Given the description of an element on the screen output the (x, y) to click on. 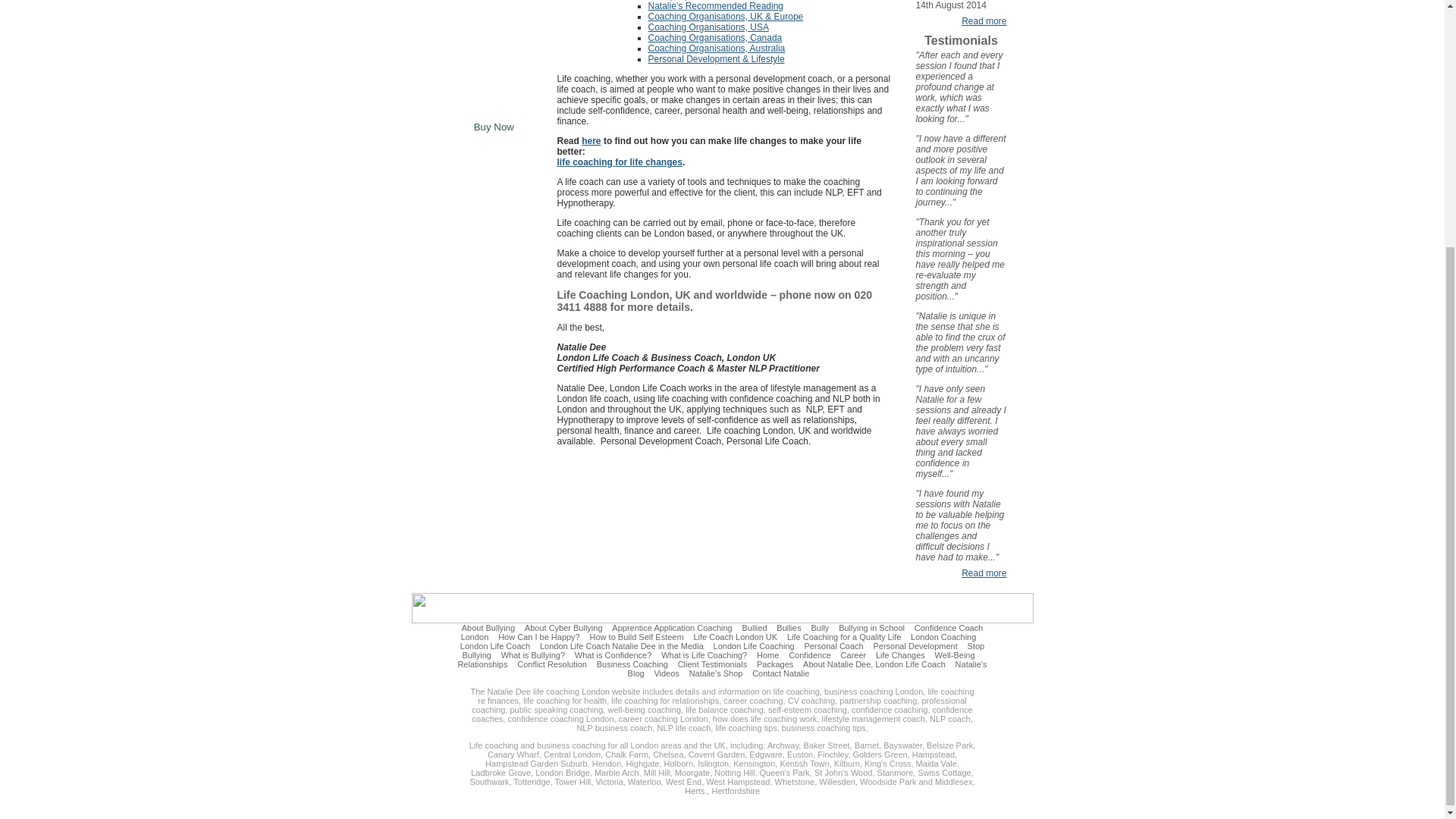
Buy Now (494, 126)
Coaching Organisations, USA (707, 27)
Read more testimonials (983, 573)
Buy Now (494, 126)
